Given the description of an element on the screen output the (x, y) to click on. 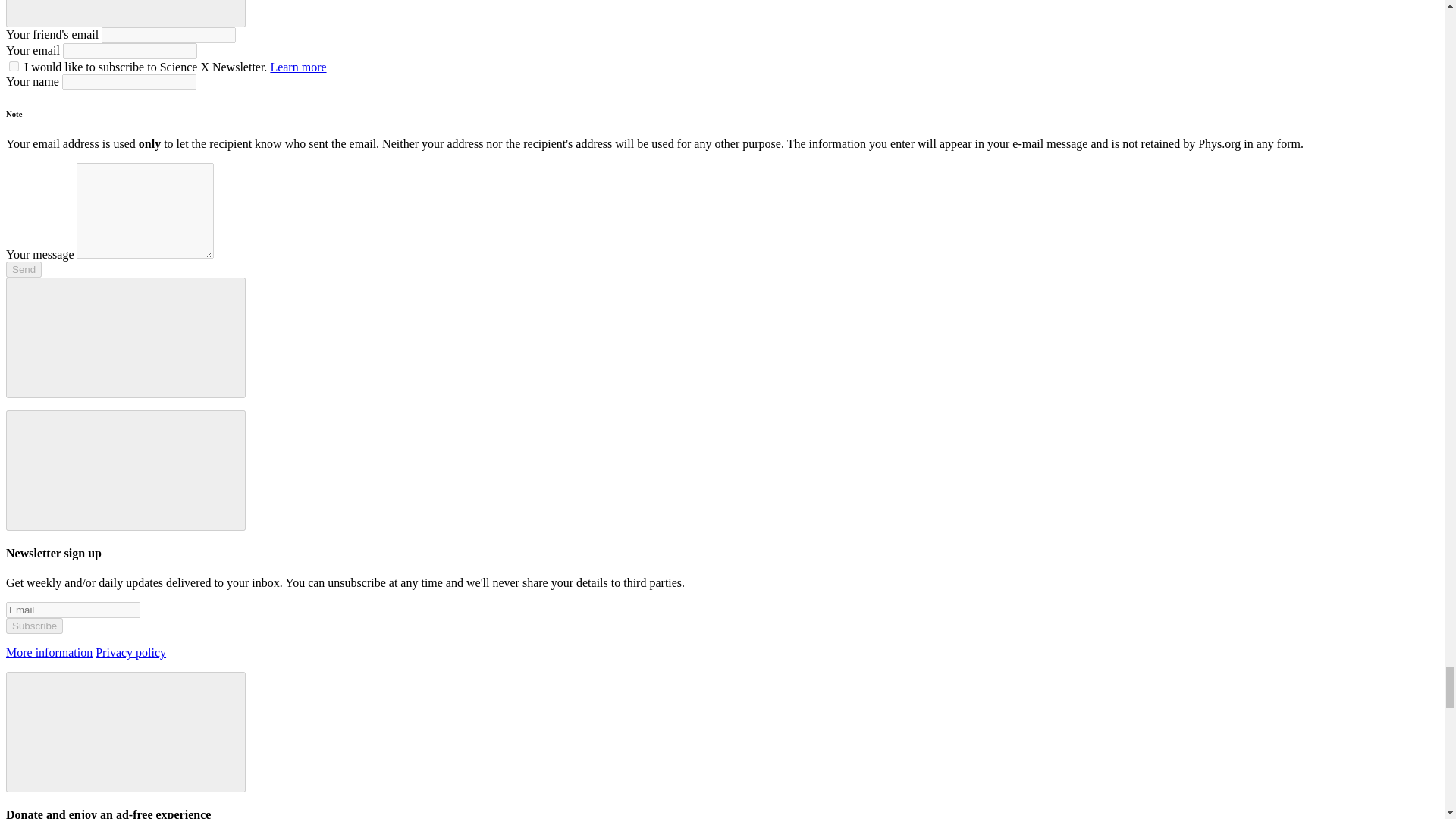
1 (13, 66)
